Given the description of an element on the screen output the (x, y) to click on. 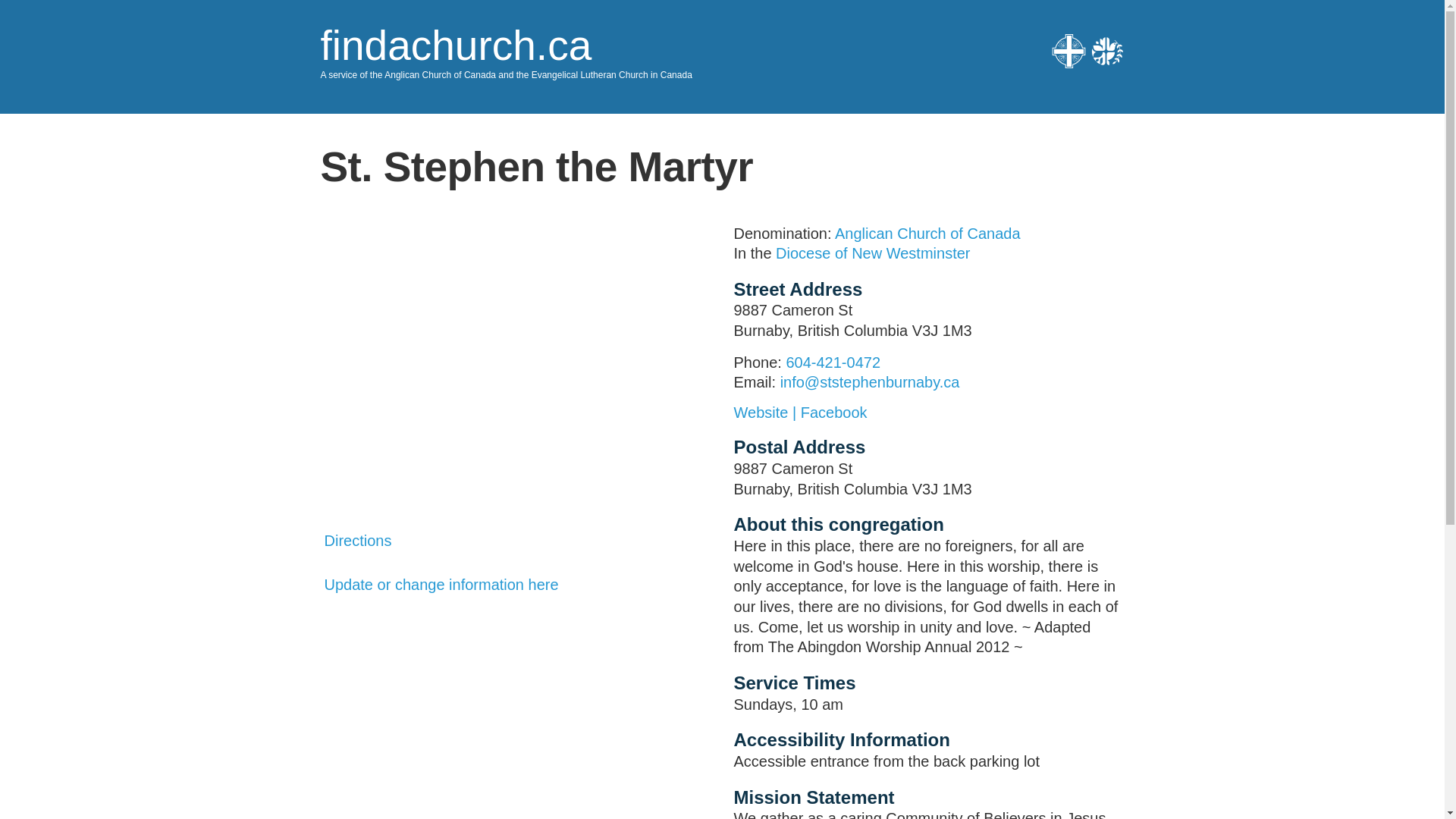
Facebook (833, 412)
Website (766, 412)
Directions (357, 540)
604-421-0472 (833, 362)
acc-white (1067, 50)
Update or change information here (441, 584)
Diocese of New Westminster (872, 252)
findachurch.ca (455, 45)
elcic (1107, 50)
Anglican Church of Canada (927, 232)
